Given the description of an element on the screen output the (x, y) to click on. 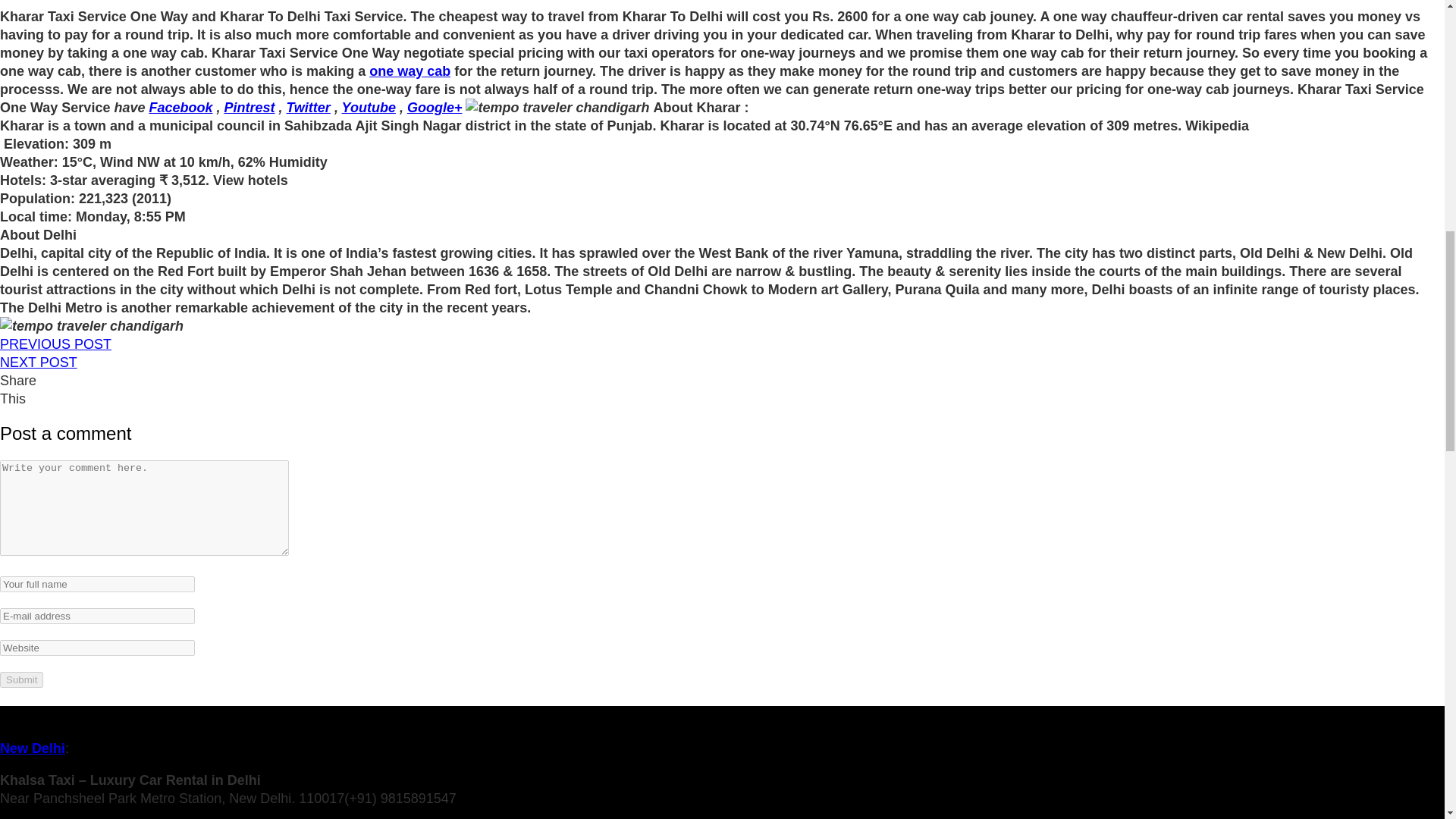
Twitter (308, 107)
Facebook (180, 107)
Pintrest (249, 107)
one way cab (409, 70)
PREVIOUS POST (56, 344)
Youtube (369, 107)
NEXT POST (38, 362)
Submit (21, 679)
